Given the description of an element on the screen output the (x, y) to click on. 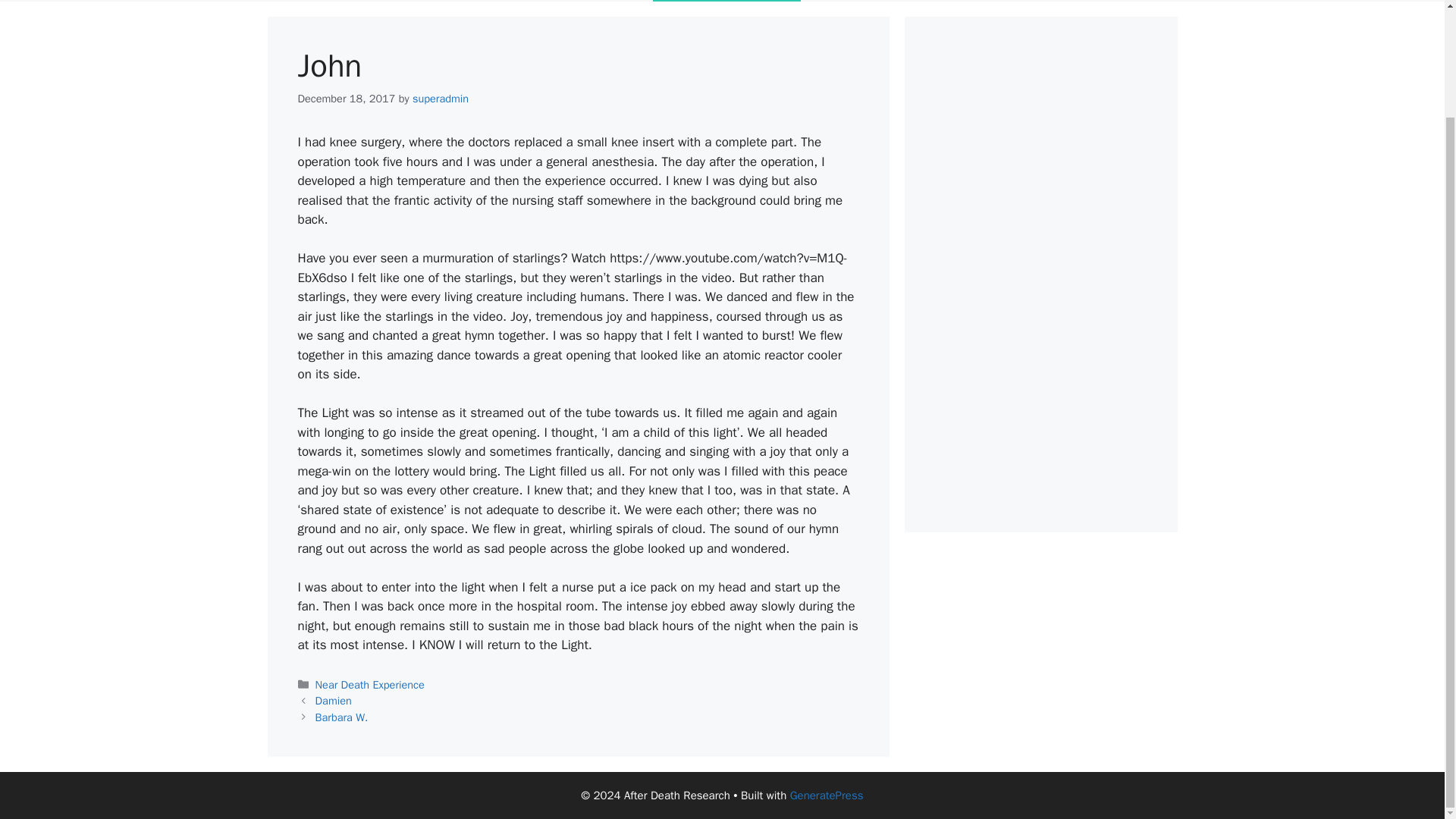
Barbara W. (341, 716)
Near Death Experience (370, 684)
superadmin (440, 98)
Damien (333, 700)
Near Death Experience (414, 0)
Advertisement (1040, 274)
GeneratePress (826, 795)
Home (311, 0)
View all posts by superadmin (440, 98)
